Given the description of an element on the screen output the (x, y) to click on. 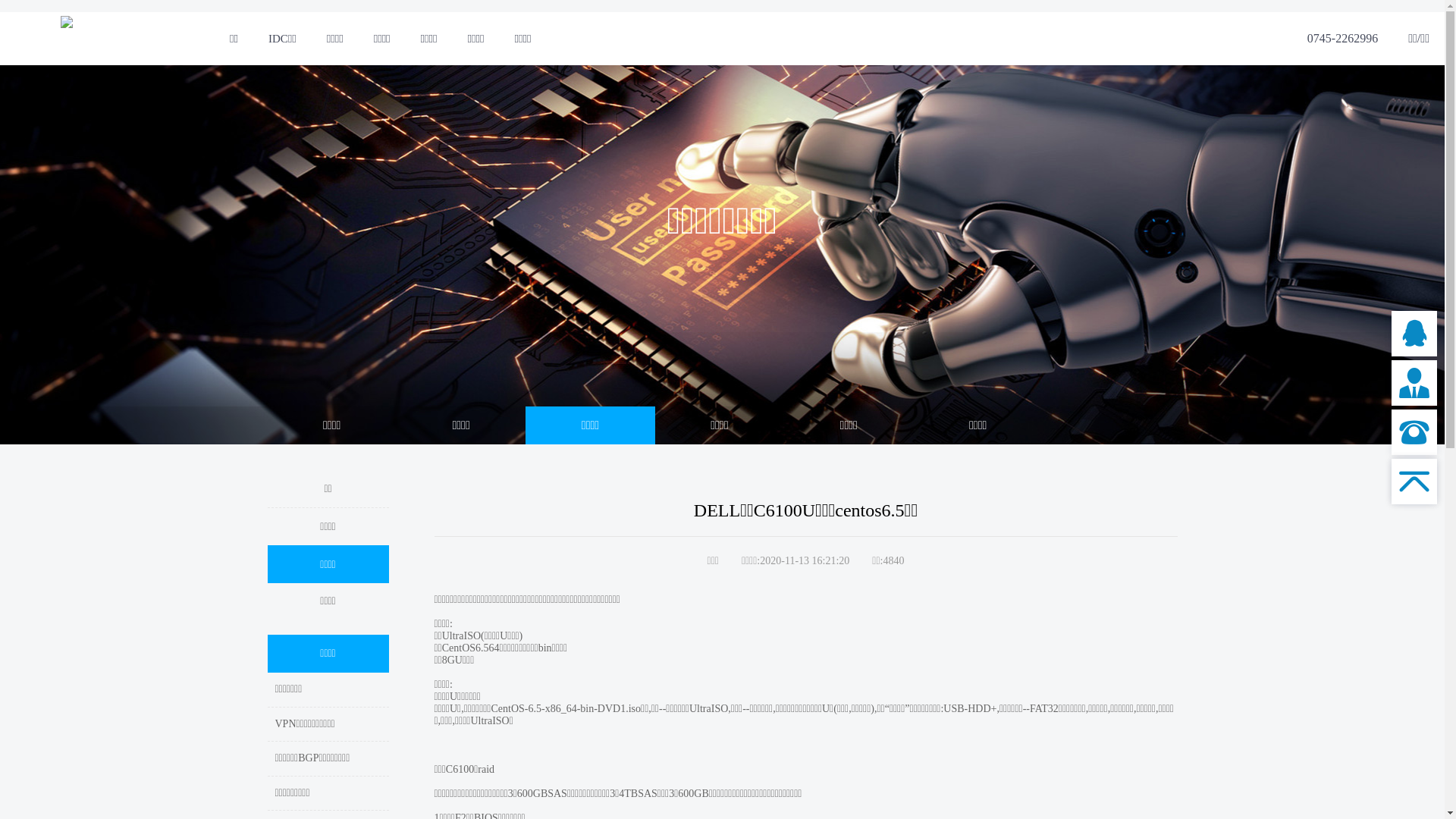
0745-2262996 Element type: text (1342, 38)
